Given the description of an element on the screen output the (x, y) to click on. 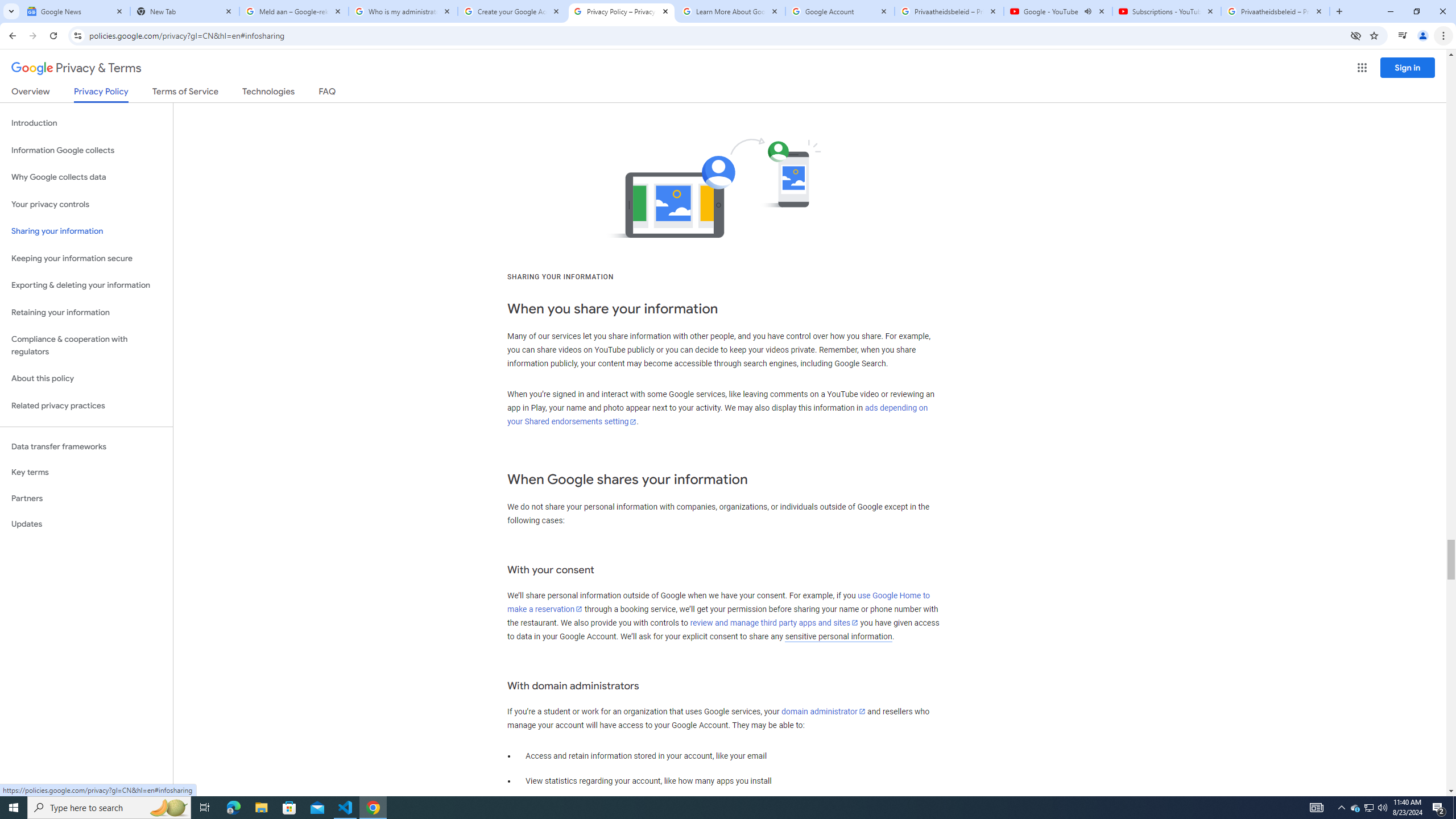
domain administrator (823, 710)
New Tab (184, 11)
Google Account (839, 11)
Retaining your information (86, 312)
Compliance & cooperation with regulators (86, 345)
